Given the description of an element on the screen output the (x, y) to click on. 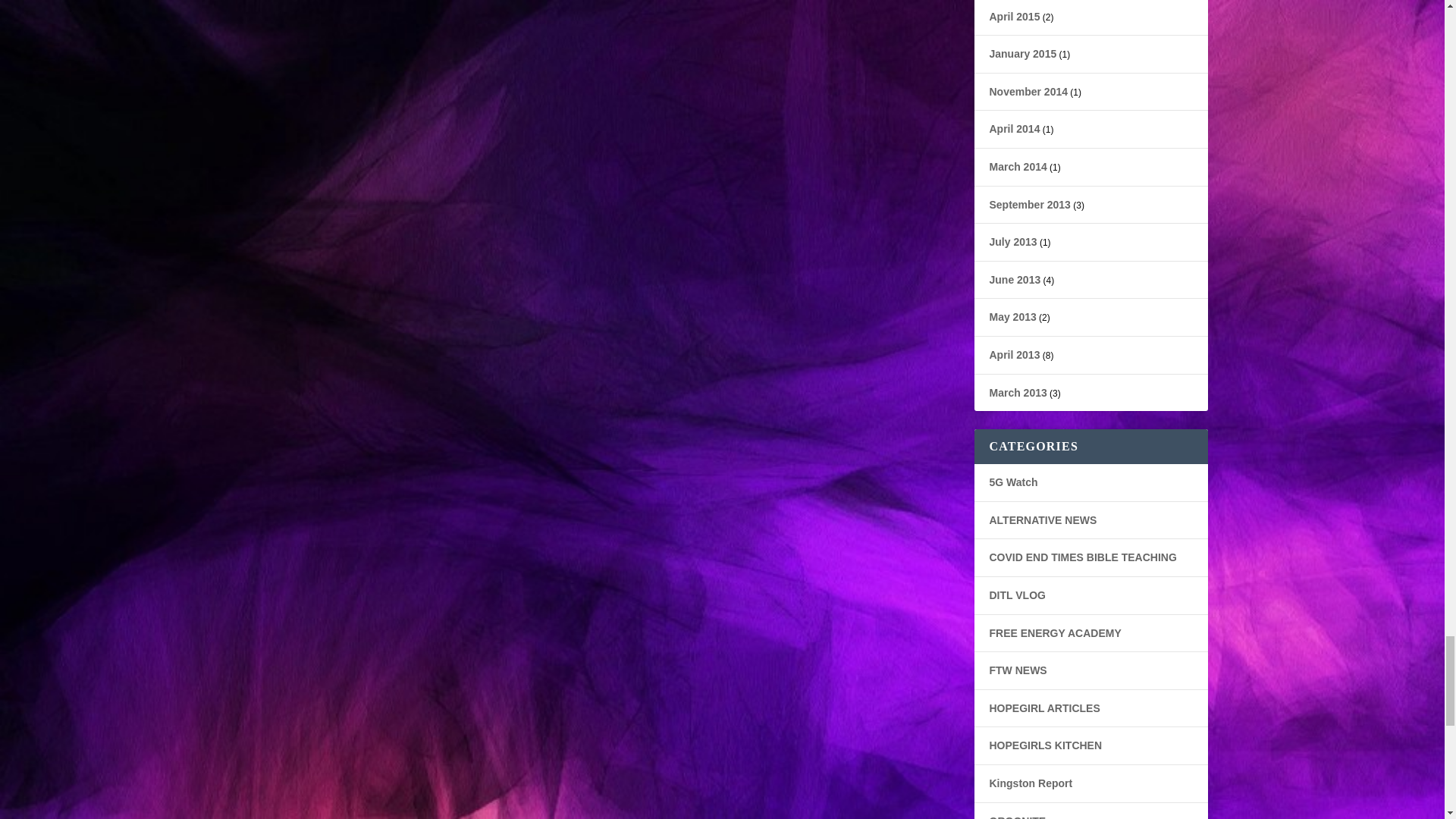
Latest updates from the Fix the World Organization (1017, 670)
